Given the description of an element on the screen output the (x, y) to click on. 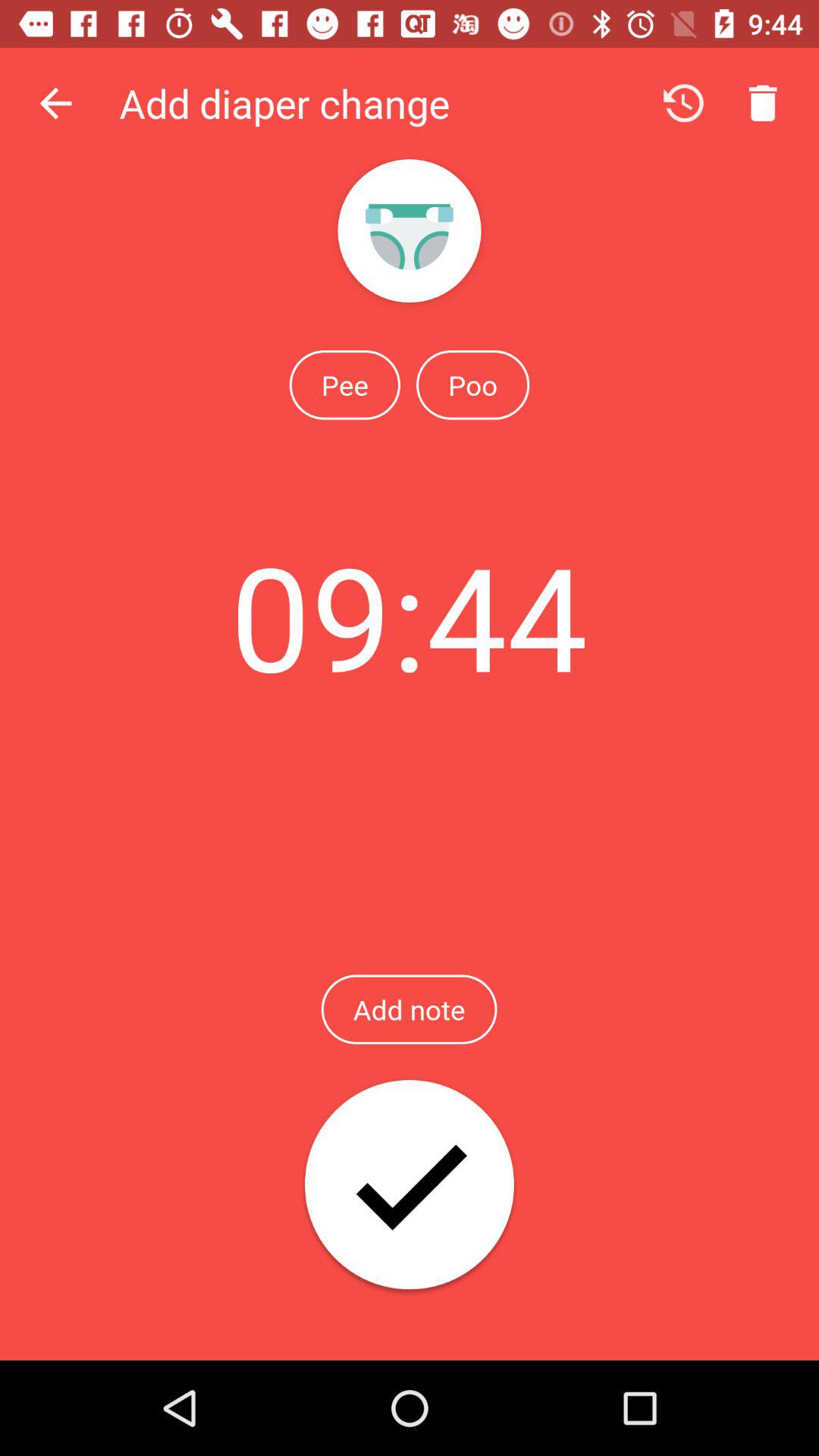
add diaper change (409, 1186)
